Given the description of an element on the screen output the (x, y) to click on. 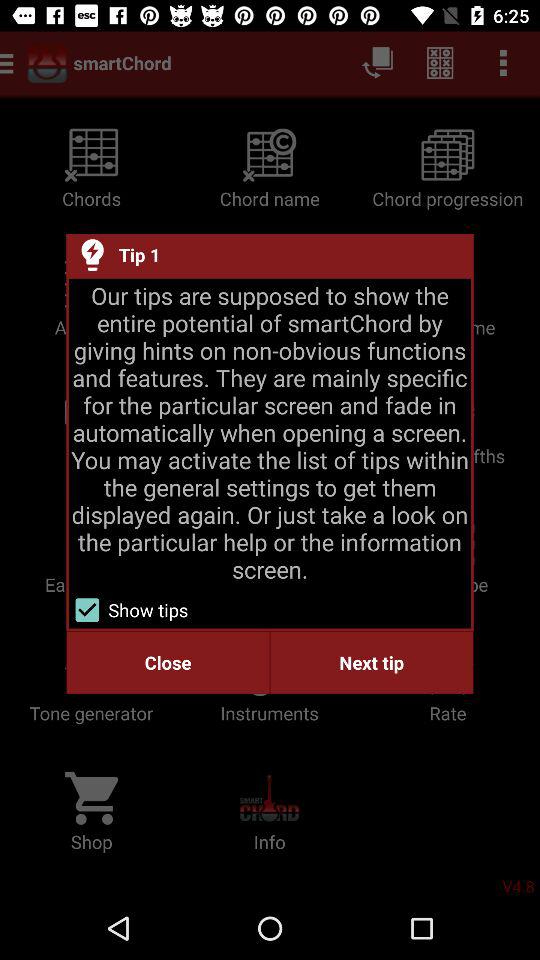
click our tips are icon (269, 432)
